Given the description of an element on the screen output the (x, y) to click on. 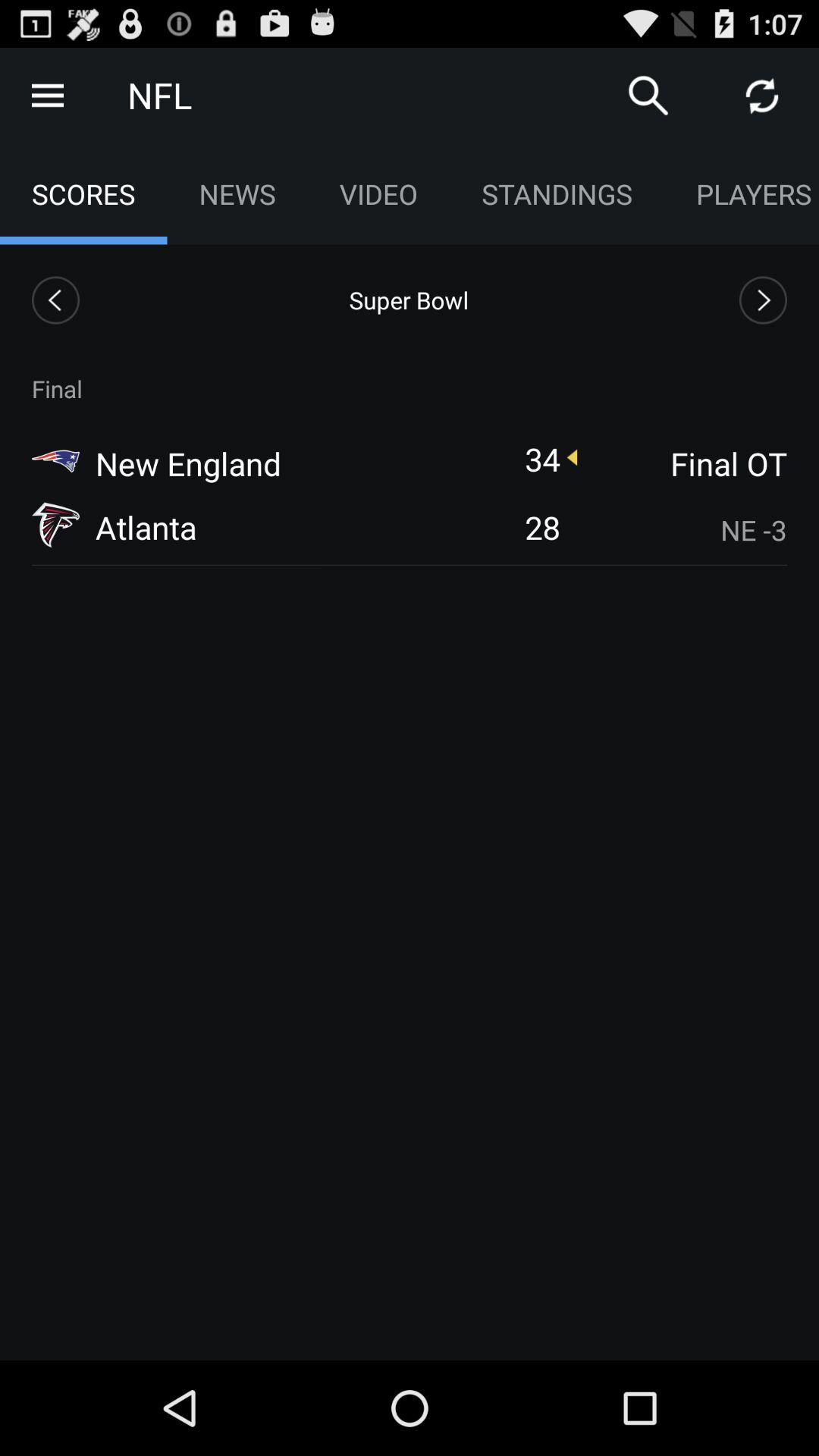
scroll until final ot app (683, 463)
